Given the description of an element on the screen output the (x, y) to click on. 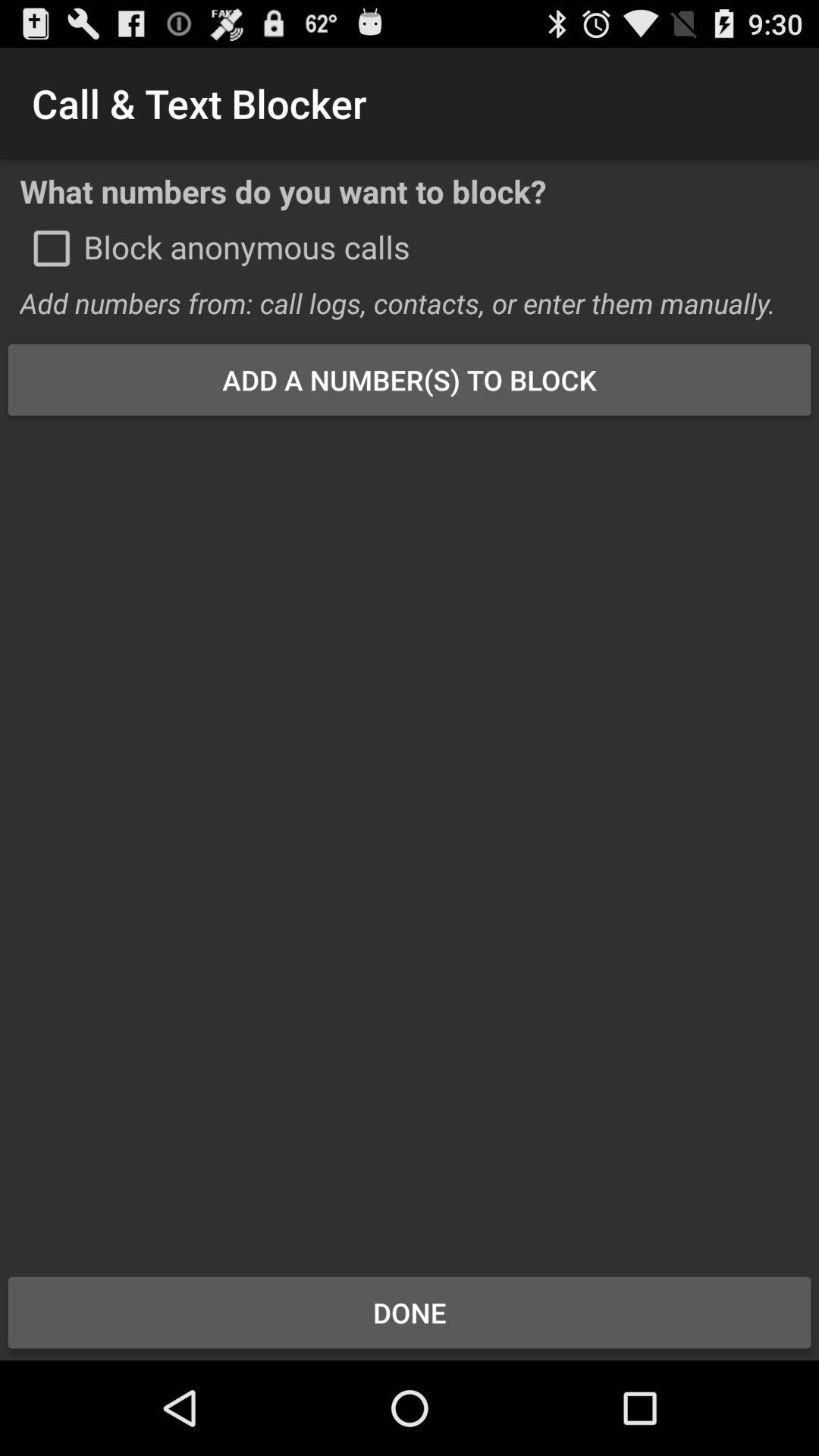
launch the app to the left of block anonymous calls item (51, 248)
